Given the description of an element on the screen output the (x, y) to click on. 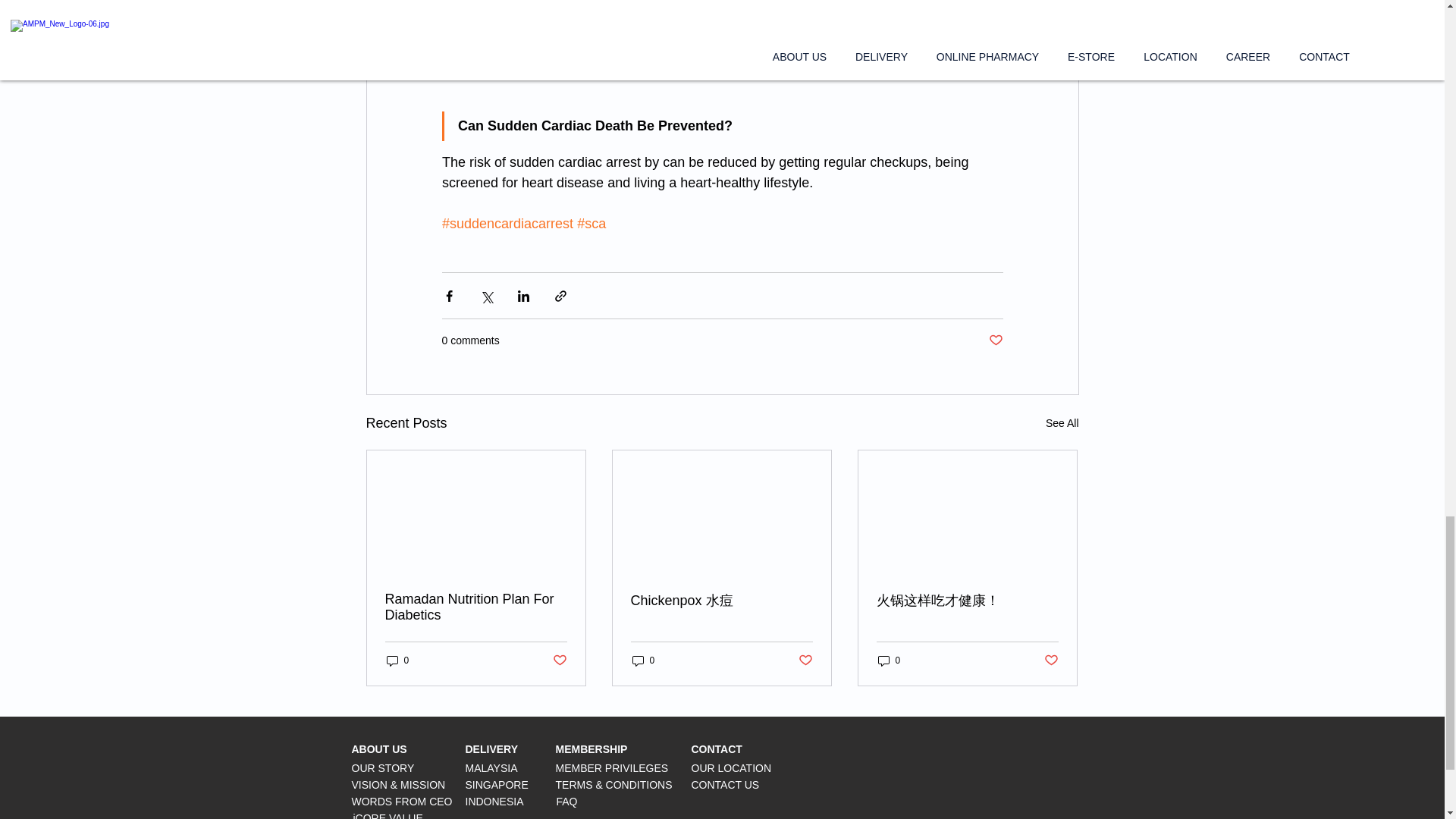
Post not marked as liked (995, 340)
Post not marked as liked (804, 660)
Post not marked as liked (1050, 660)
Post not marked as liked (558, 660)
0 (643, 660)
OUR STORY (383, 767)
See All (1061, 423)
0 (397, 660)
Ramadan Nutrition Plan For Diabetics (476, 607)
0 (889, 660)
